Given the description of an element on the screen output the (x, y) to click on. 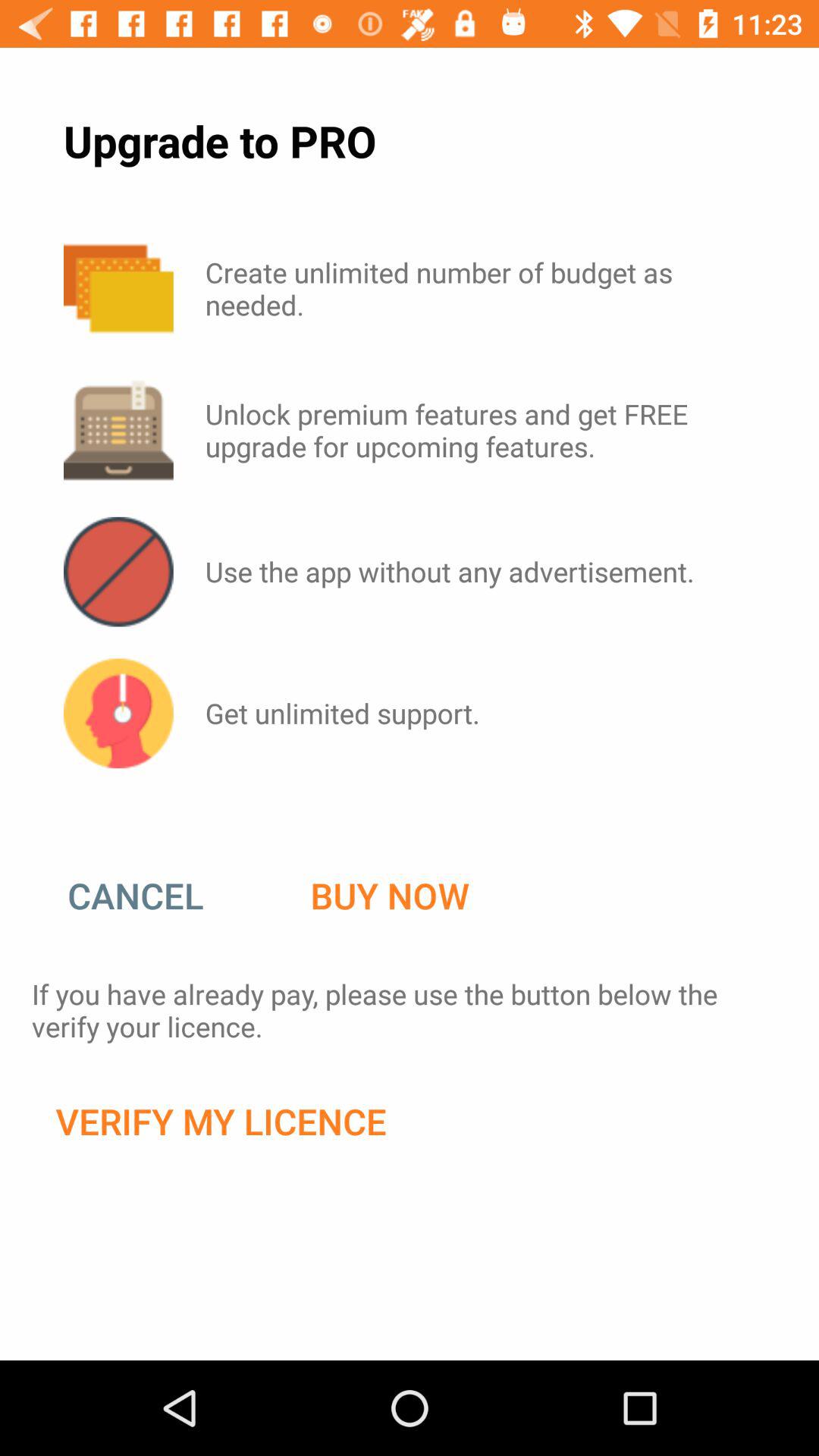
press item next to buy now icon (150, 895)
